Given the description of an element on the screen output the (x, y) to click on. 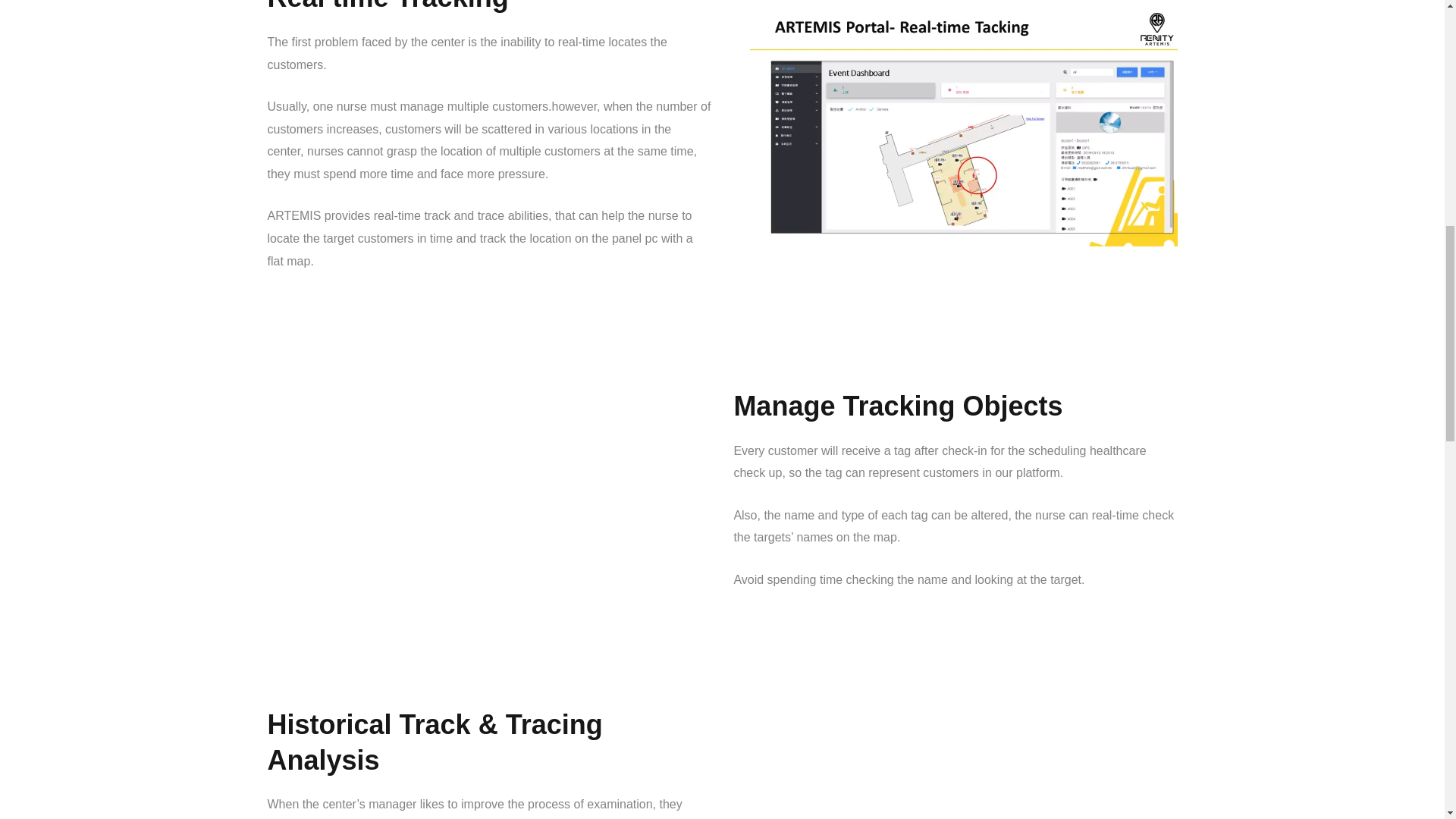
Case Study 3 (480, 490)
Case Study 4 (962, 779)
Case Study 2 (962, 125)
